Given the description of an element on the screen output the (x, y) to click on. 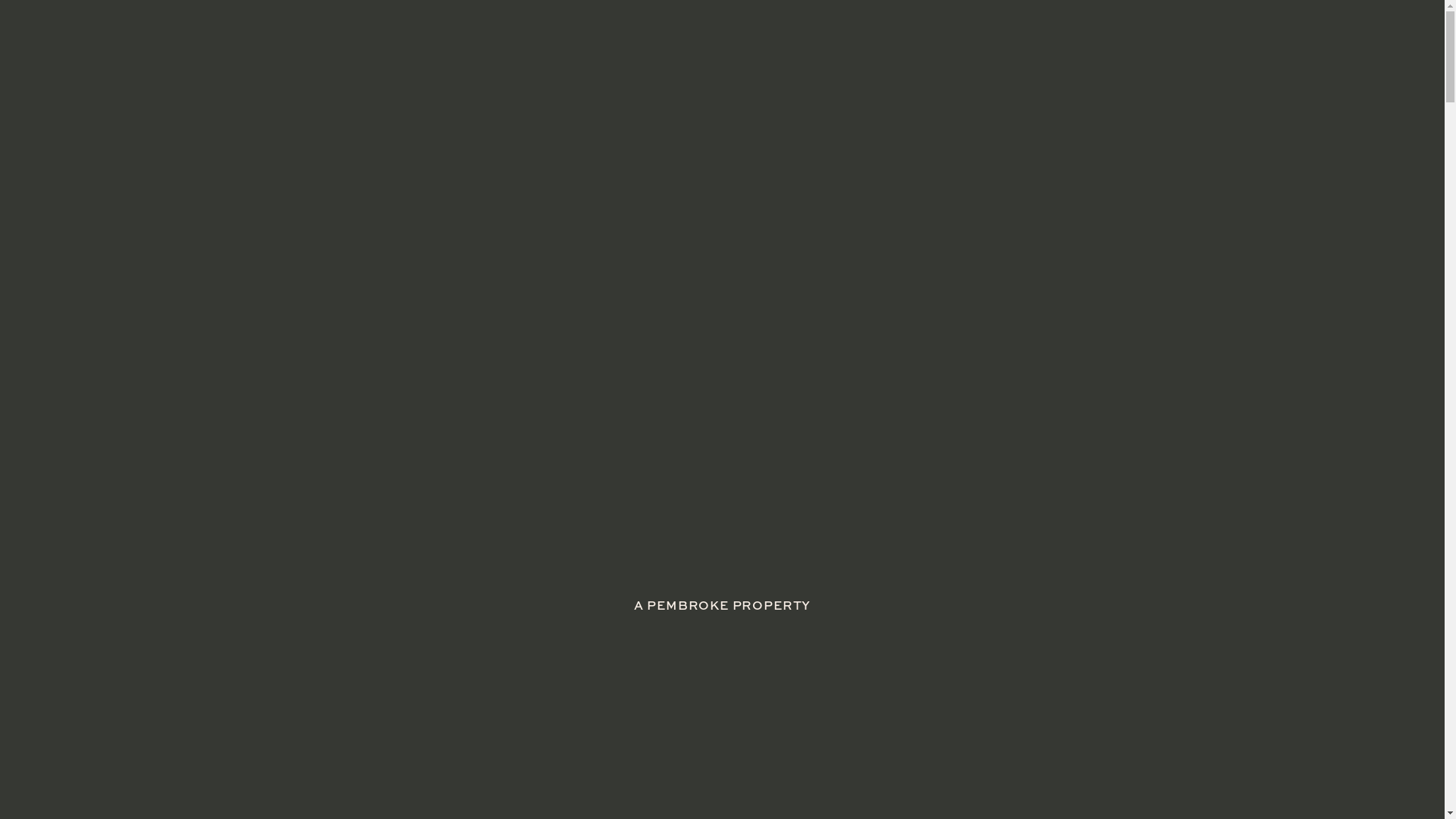
ALL Element type: text (315, 376)
GALLERY Element type: text (1190, 17)
ART & ARCHITECTURE Element type: text (1072, 376)
NEIGHBORHOOD Element type: text (765, 376)
LOCATION Element type: text (1048, 17)
RENOVATION Element type: text (911, 376)
INNOVATION Element type: text (523, 376)
HISTORY Element type: text (403, 376)
EXPERIENCE Element type: text (904, 17)
AVAILABILITY Element type: text (1048, 44)
CONTACT Element type: text (1190, 44)
STORIES Element type: text (904, 44)
PEOPLE Element type: text (638, 376)
